Given the description of an element on the screen output the (x, y) to click on. 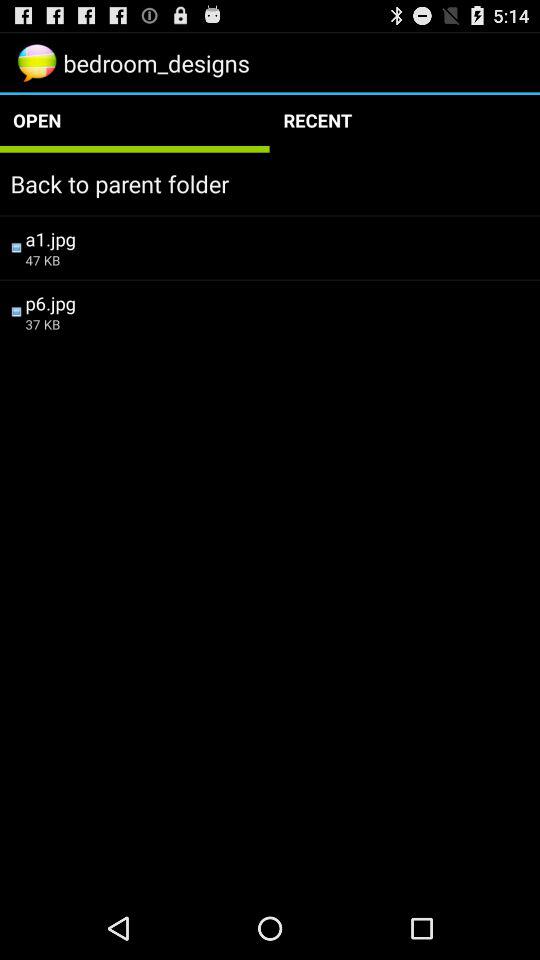
choose icon above the a1.jpg item (270, 183)
